Given the description of an element on the screen output the (x, y) to click on. 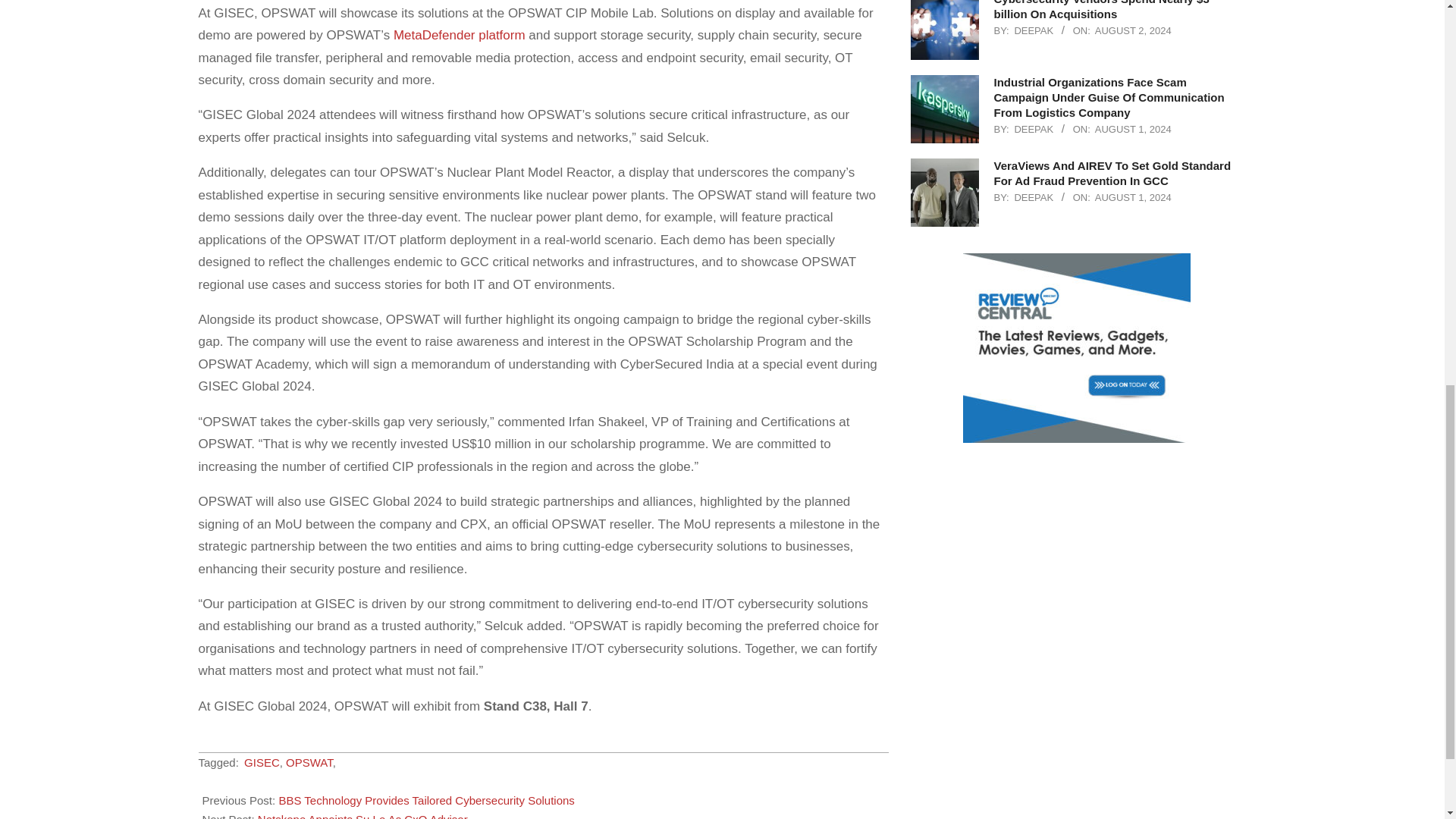
Thursday, August 1, 2024, 3:42 pm (1133, 197)
Posts by Deepak (1032, 129)
Thursday, August 1, 2024, 4:34 pm (1133, 129)
Posts by Deepak (1032, 197)
Friday, August 2, 2024, 10:35 am (1133, 30)
Posts by Deepak (1032, 30)
